Given the description of an element on the screen output the (x, y) to click on. 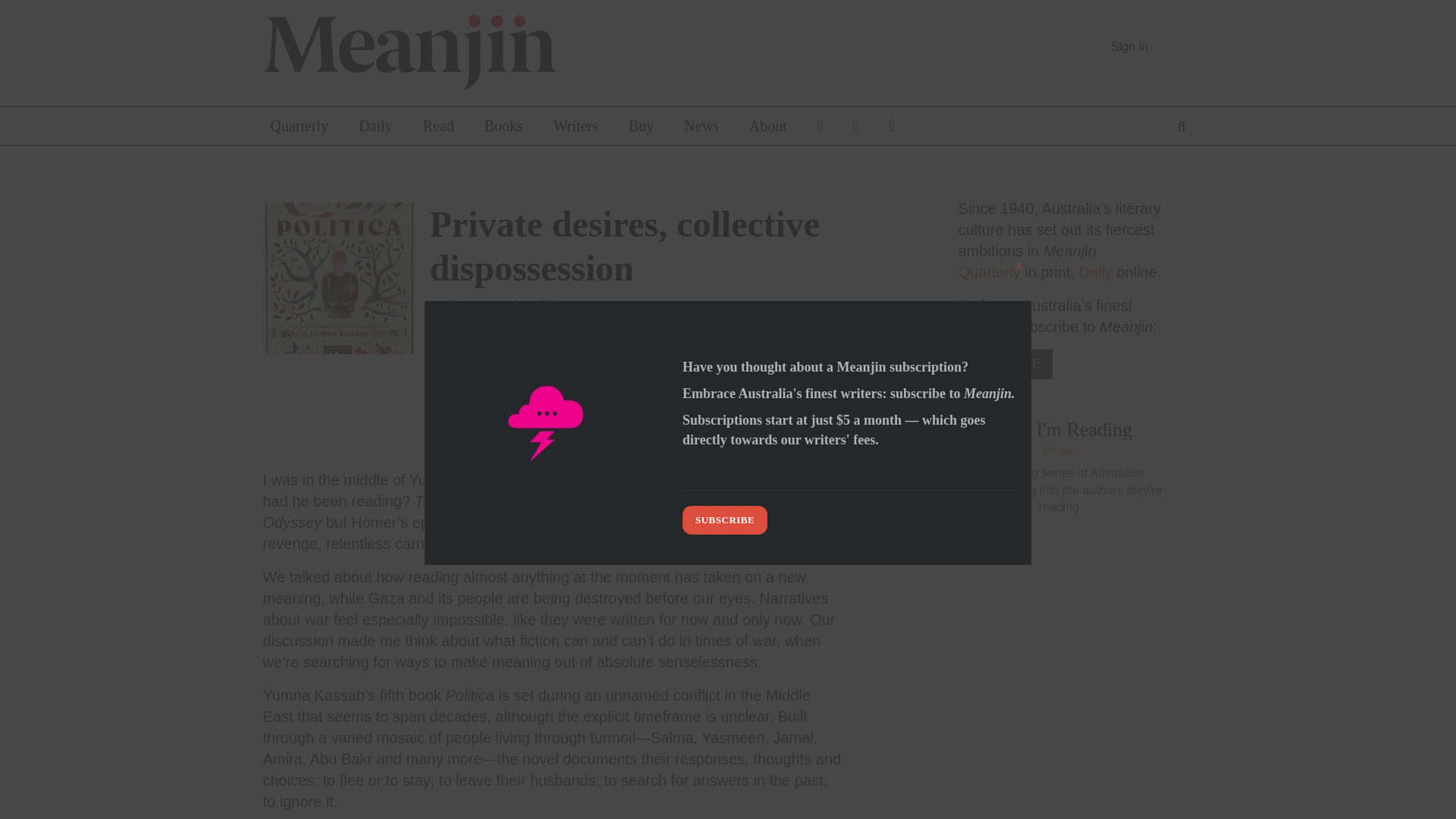
Daily (375, 125)
About (767, 125)
Sign in (1129, 46)
Meanjin (484, 52)
Writers (575, 125)
Quarterly (298, 125)
News (700, 125)
Books (503, 125)
Read (437, 125)
Buy (640, 125)
